Given the description of an element on the screen output the (x, y) to click on. 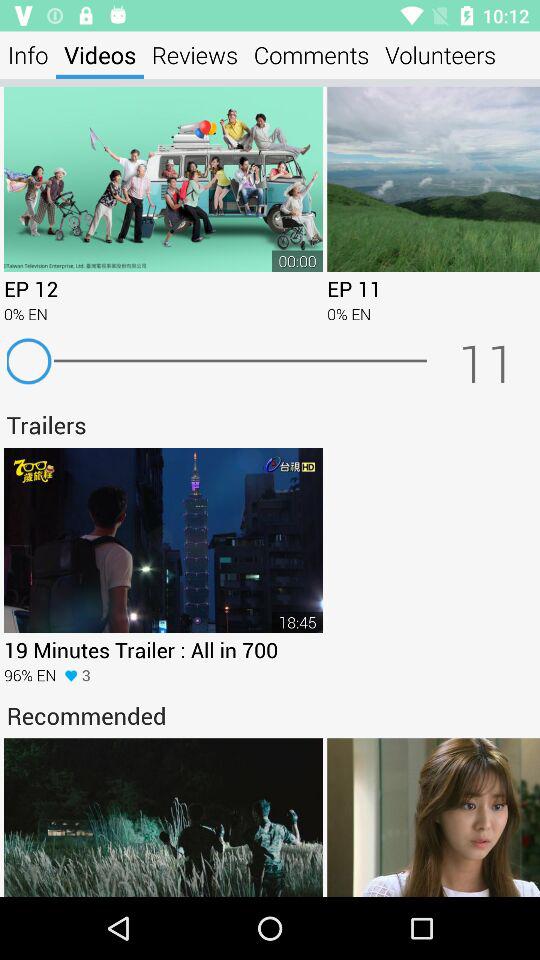
tap icon to the left of the volunteers icon (311, 54)
